Given the description of an element on the screen output the (x, y) to click on. 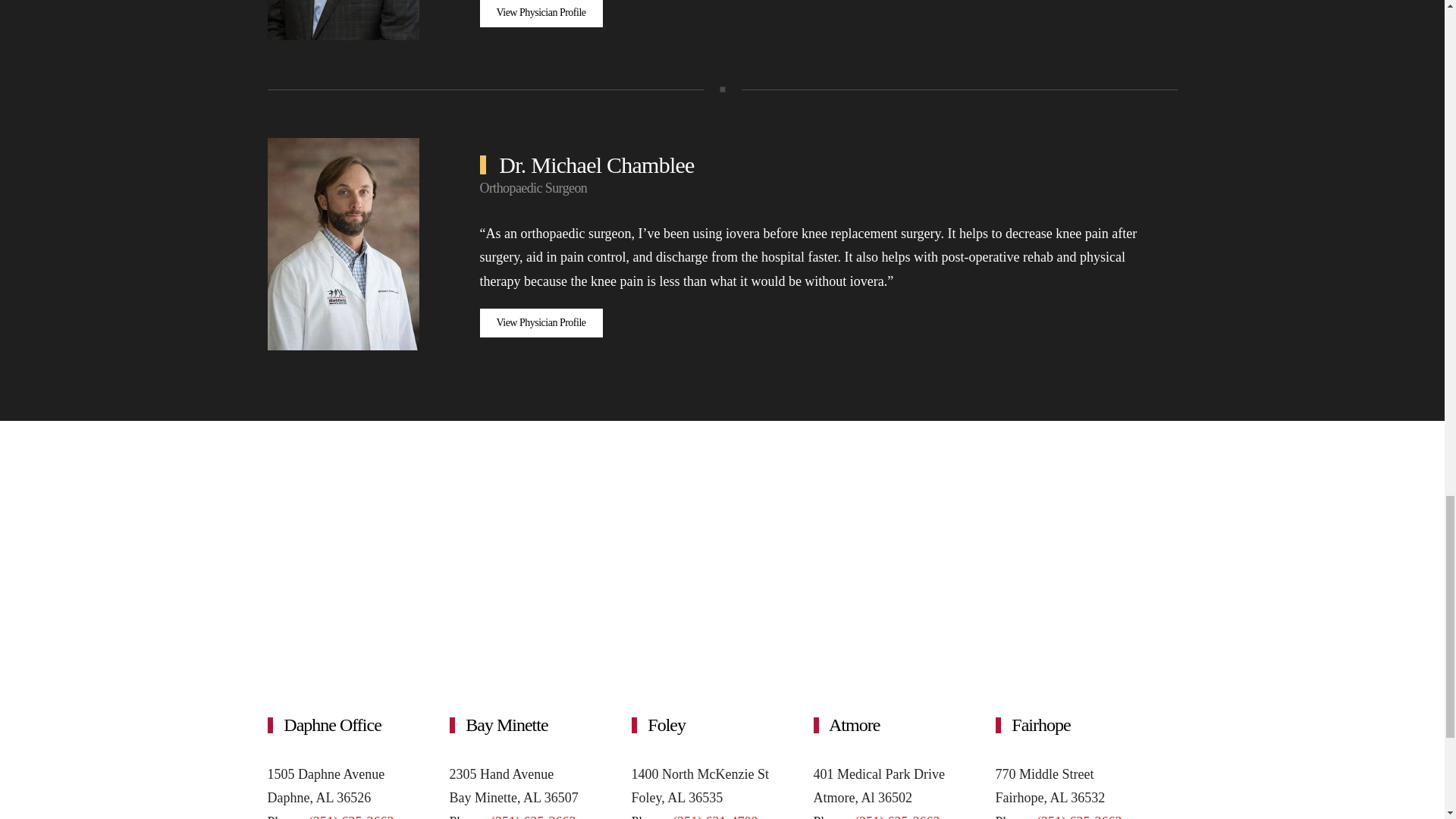
Office phone number (1078, 816)
Office phone number (714, 816)
Office phone number (532, 816)
Office phone number (896, 816)
Office phone number (350, 816)
